Given the description of an element on the screen output the (x, y) to click on. 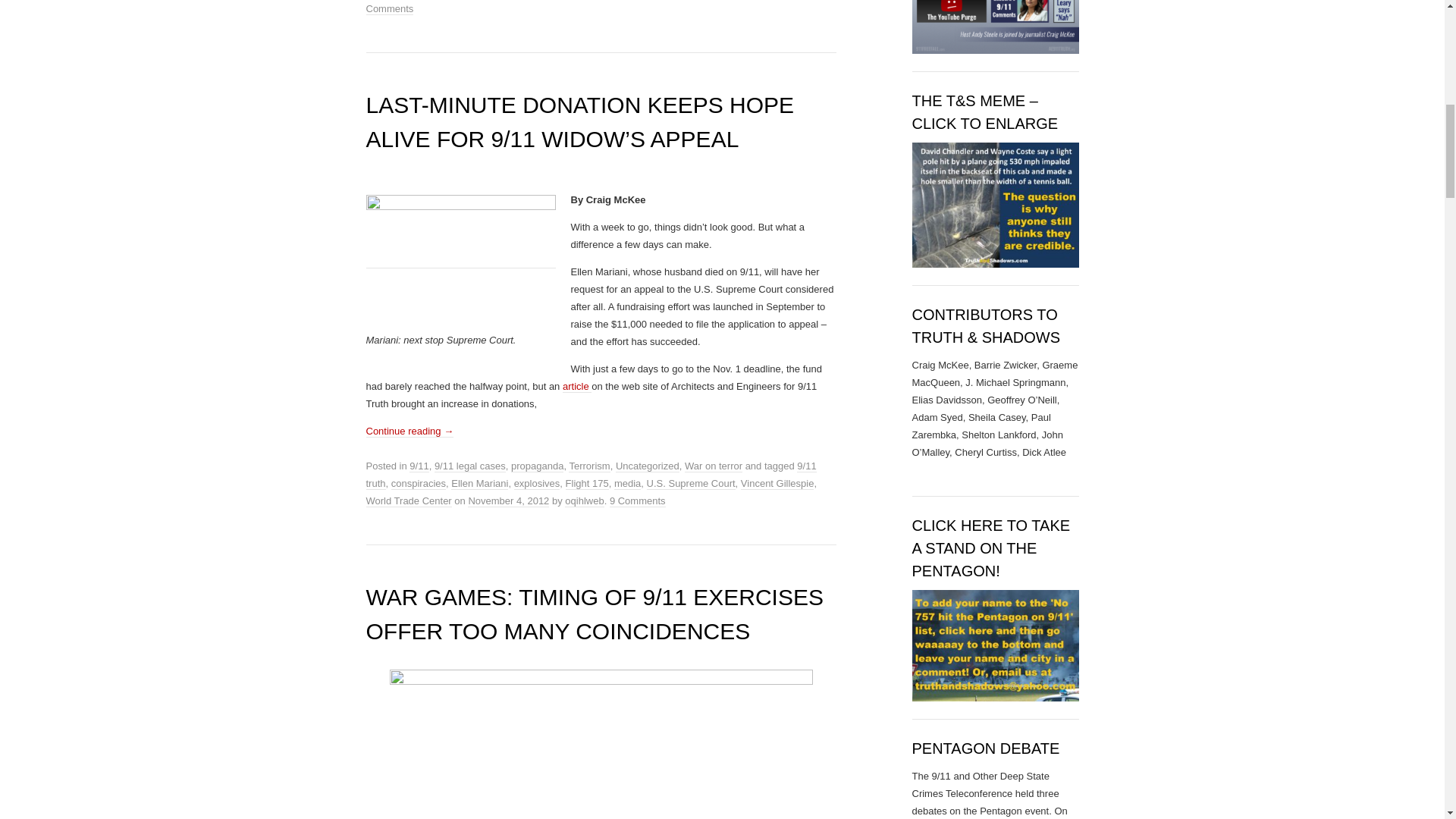
military controller (601, 744)
7:38 pm (507, 500)
View all posts by oqihlweb (584, 500)
EllenMariani2 (459, 262)
